Given the description of an element on the screen output the (x, y) to click on. 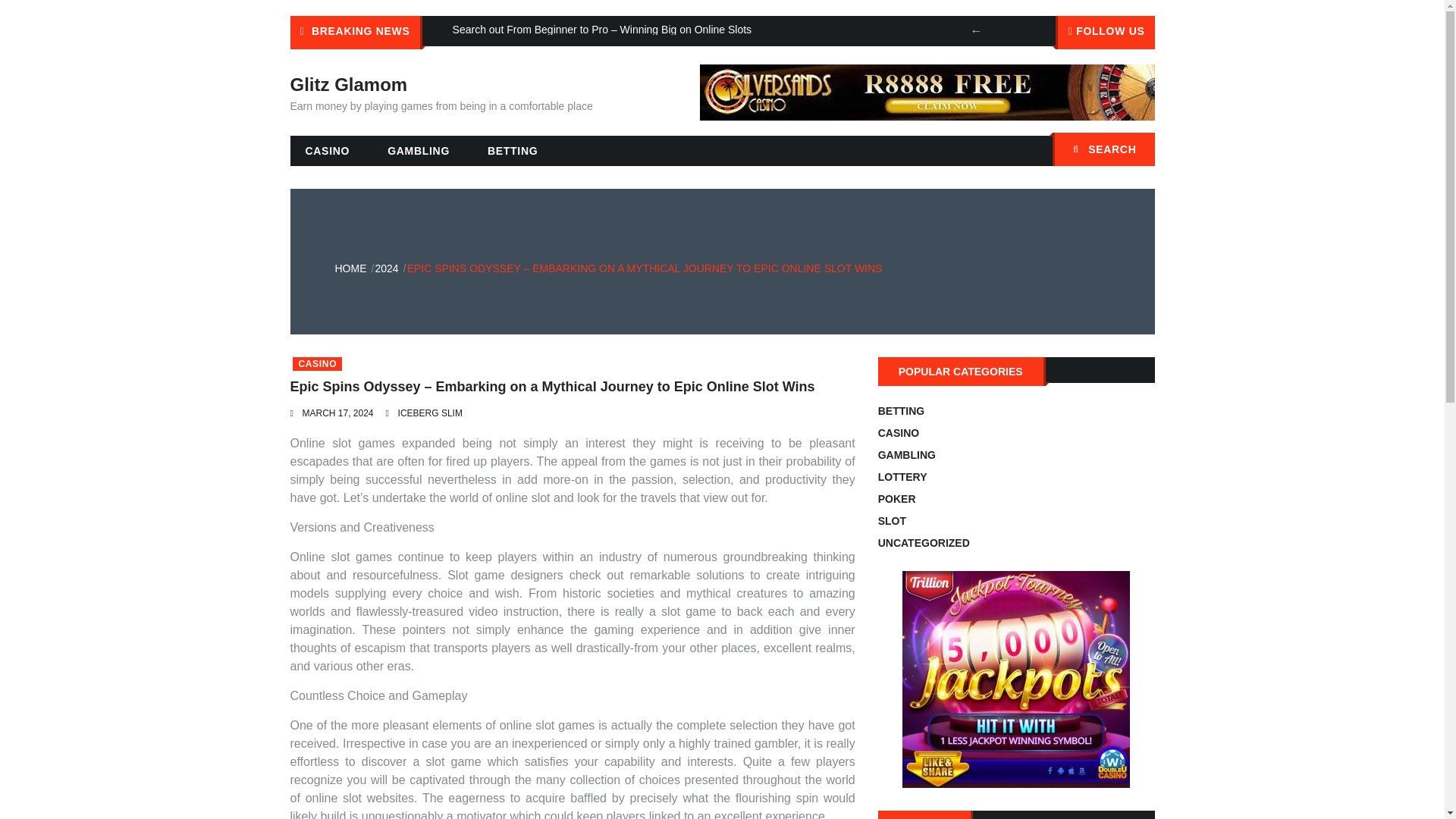
CASINO (317, 364)
LOTTERY (902, 476)
GAMBLING (418, 150)
SLOT (891, 520)
SEARCH (1103, 149)
BETTING (512, 150)
FOLLOW US (1104, 32)
Search (1135, 150)
POKER (896, 498)
CASINO (327, 150)
Glitz Glamom (348, 84)
MARCH 17, 2024 (336, 412)
Search (1135, 150)
2024 (385, 268)
ICEBERG SLIM (430, 412)
